Given the description of an element on the screen output the (x, y) to click on. 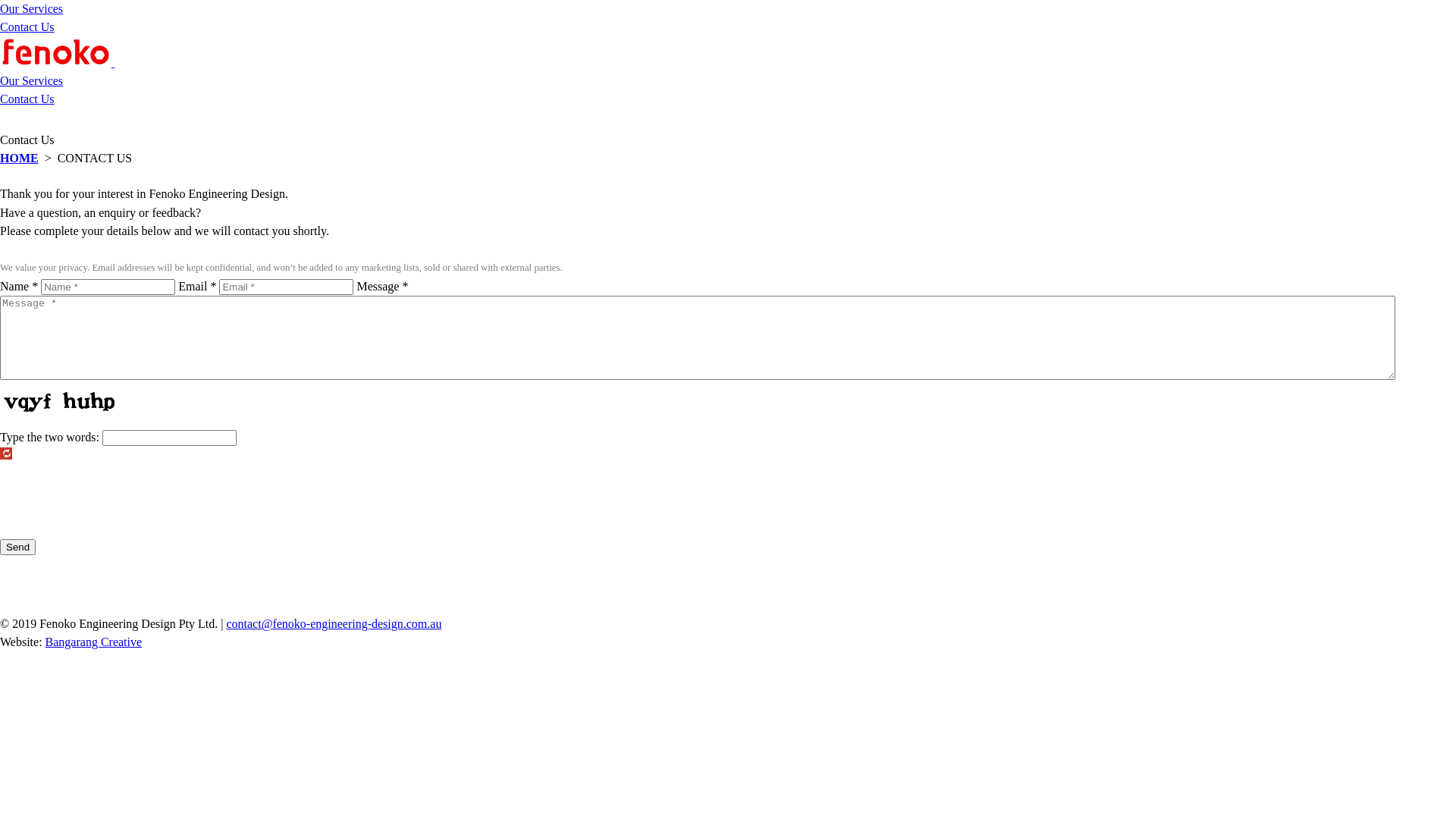
Our Services Element type: text (31, 8)
Send Element type: text (17, 547)
HOME Element type: text (19, 157)
Bangarang Creative Element type: text (93, 641)
Contact Us Element type: text (27, 26)
Contact Us Element type: text (27, 98)
Our Services Element type: text (31, 80)
contact@fenoko-engineering-design.com.au Element type: text (333, 623)
